Given the description of an element on the screen output the (x, y) to click on. 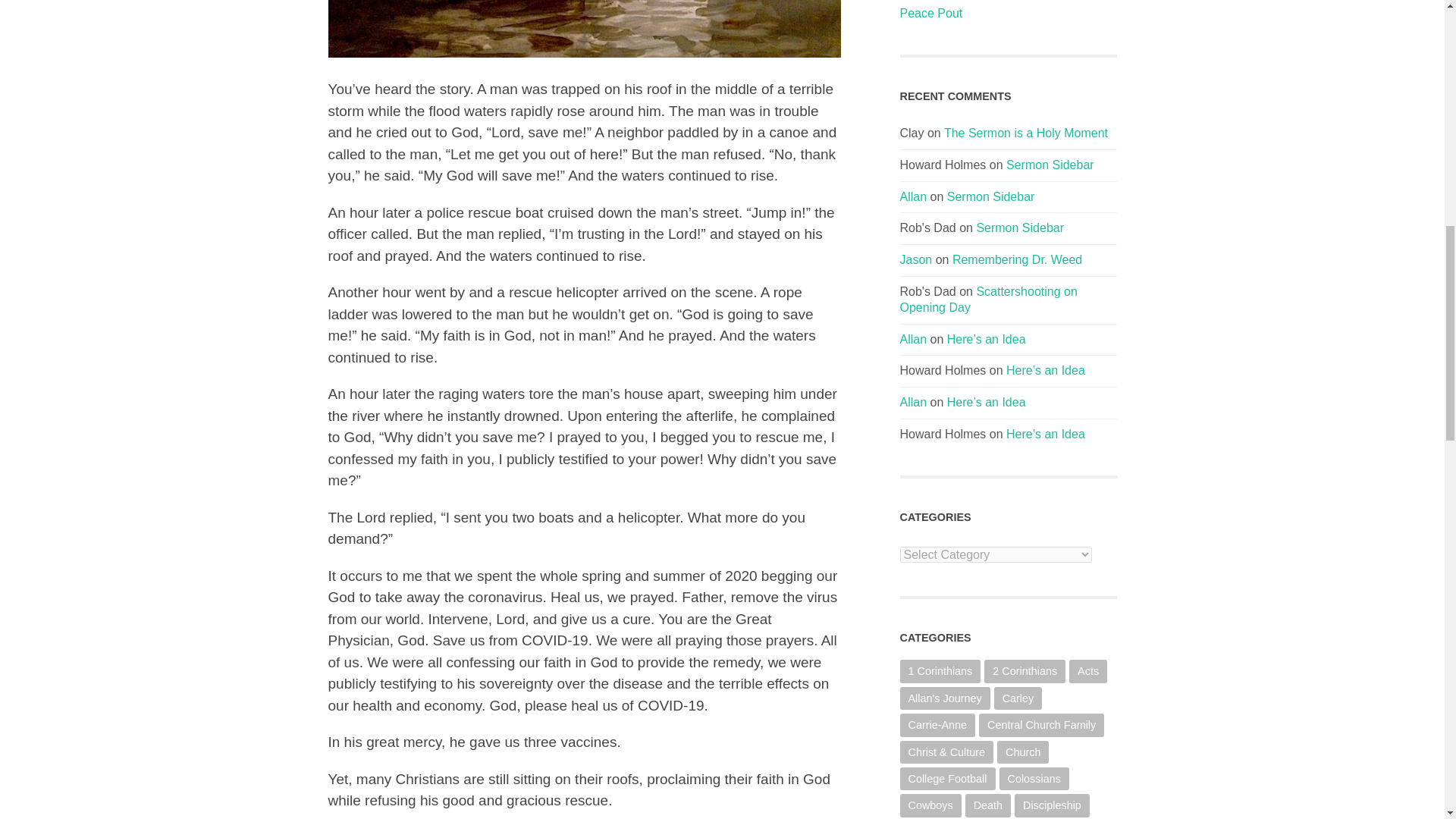
Remembering Dr. Weed (1016, 259)
Allan (912, 196)
Peace Pout (1007, 13)
Sermon Sidebar (991, 196)
Sermon Sidebar (1019, 227)
Allan (912, 401)
The Sermon is a Holy Moment (1025, 132)
Sermon Sidebar (1050, 164)
Jason (915, 259)
Scattershooting on Opening Day (988, 299)
